Given the description of an element on the screen output the (x, y) to click on. 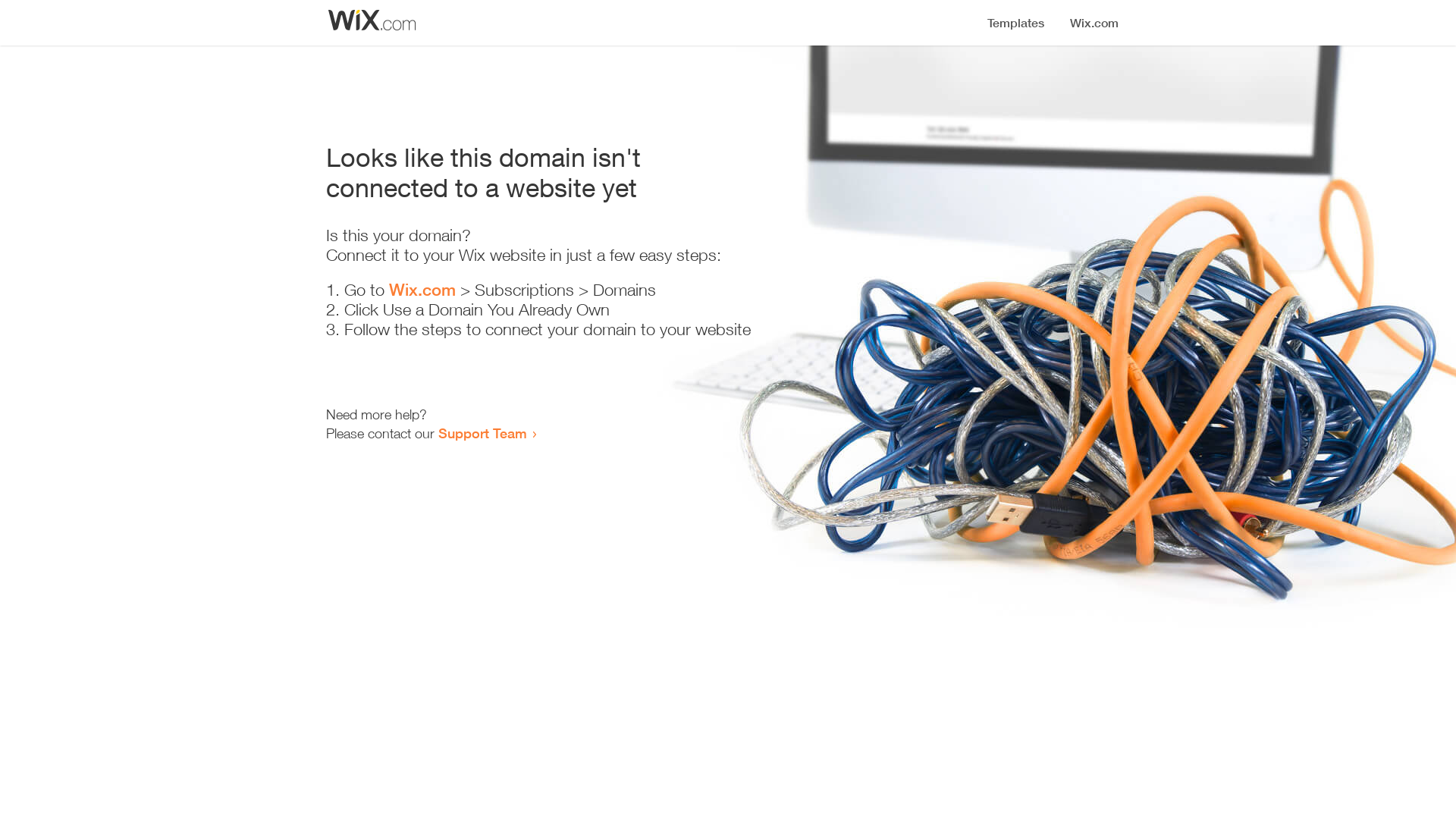
Wix.com Element type: text (422, 289)
Support Team Element type: text (482, 432)
